Given the description of an element on the screen output the (x, y) to click on. 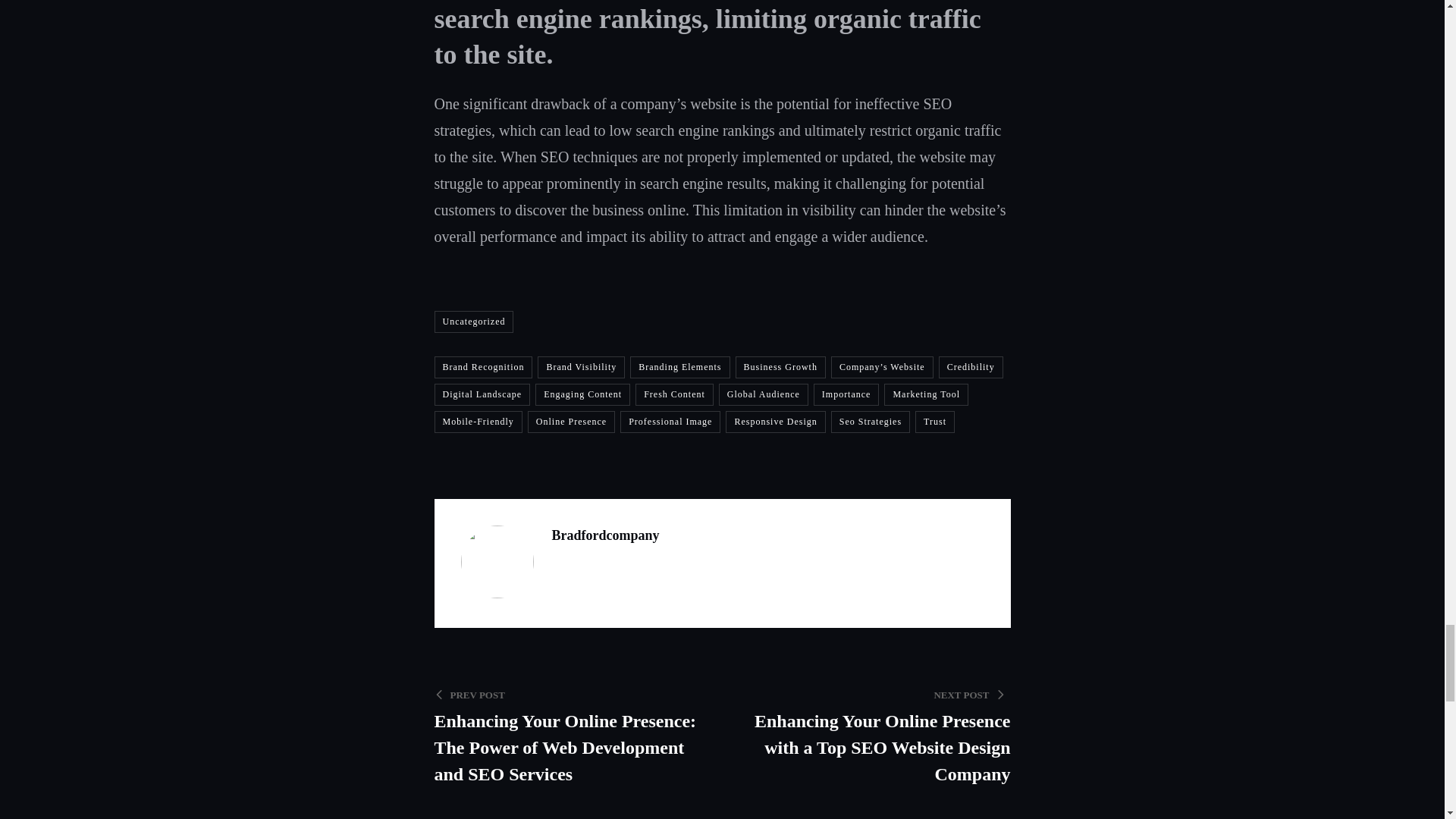
Engaging Content (582, 394)
Credibility (971, 367)
Branding Elements (679, 367)
Brand Visibility (580, 367)
Brand Recognition (482, 367)
Business Growth (780, 367)
Mobile-Friendly (477, 422)
Responsive Design (775, 422)
Importance (846, 394)
Professional Image (670, 422)
Fresh Content (673, 394)
Uncategorized (473, 321)
Global Audience (763, 394)
Digital Landscape (481, 394)
Online Presence (570, 422)
